Given the description of an element on the screen output the (x, y) to click on. 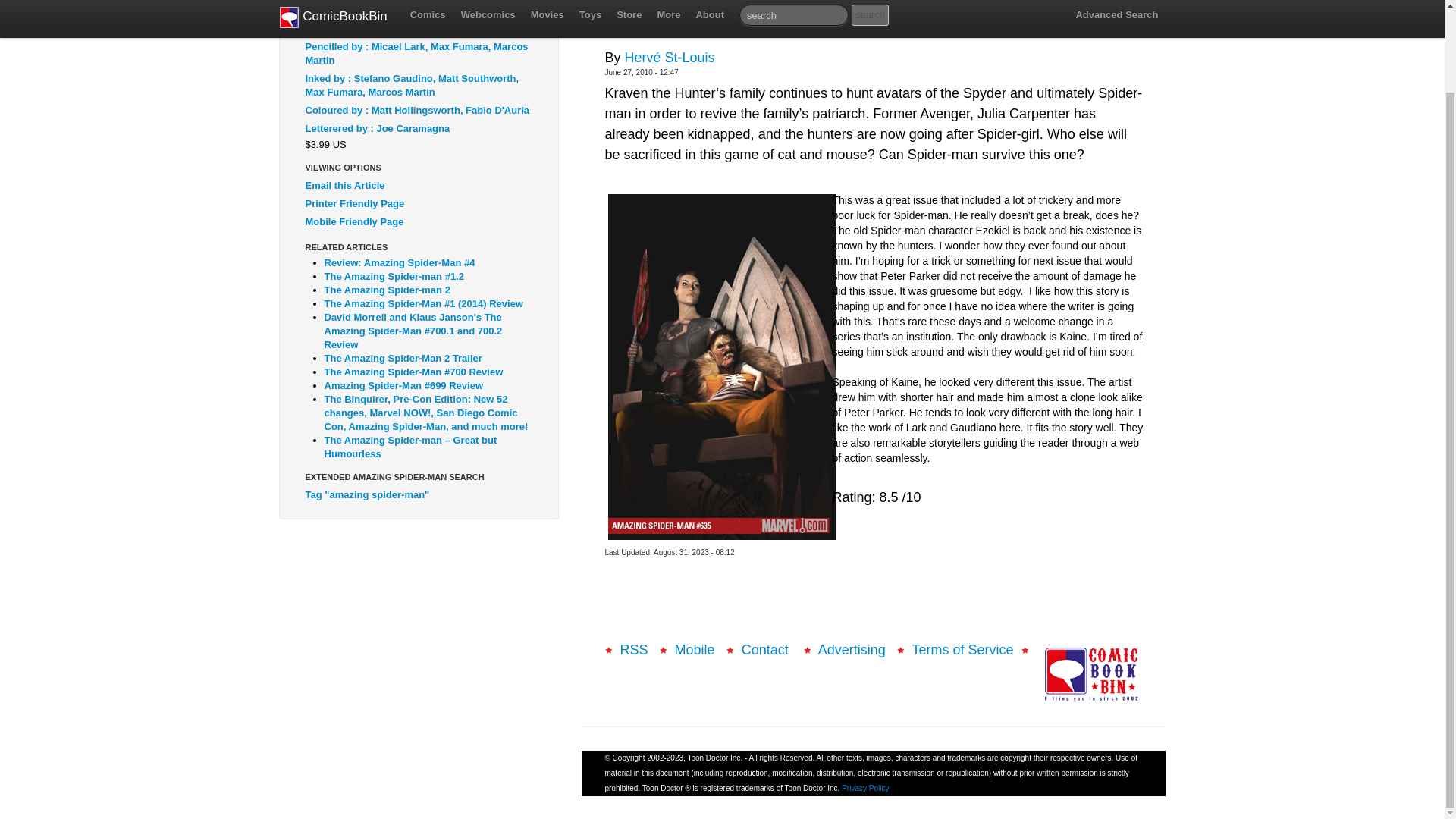
Contact (766, 649)
Terms of Service (962, 649)
RSS (633, 649)
Advertising (851, 649)
Mobile (694, 649)
